Given the description of an element on the screen output the (x, y) to click on. 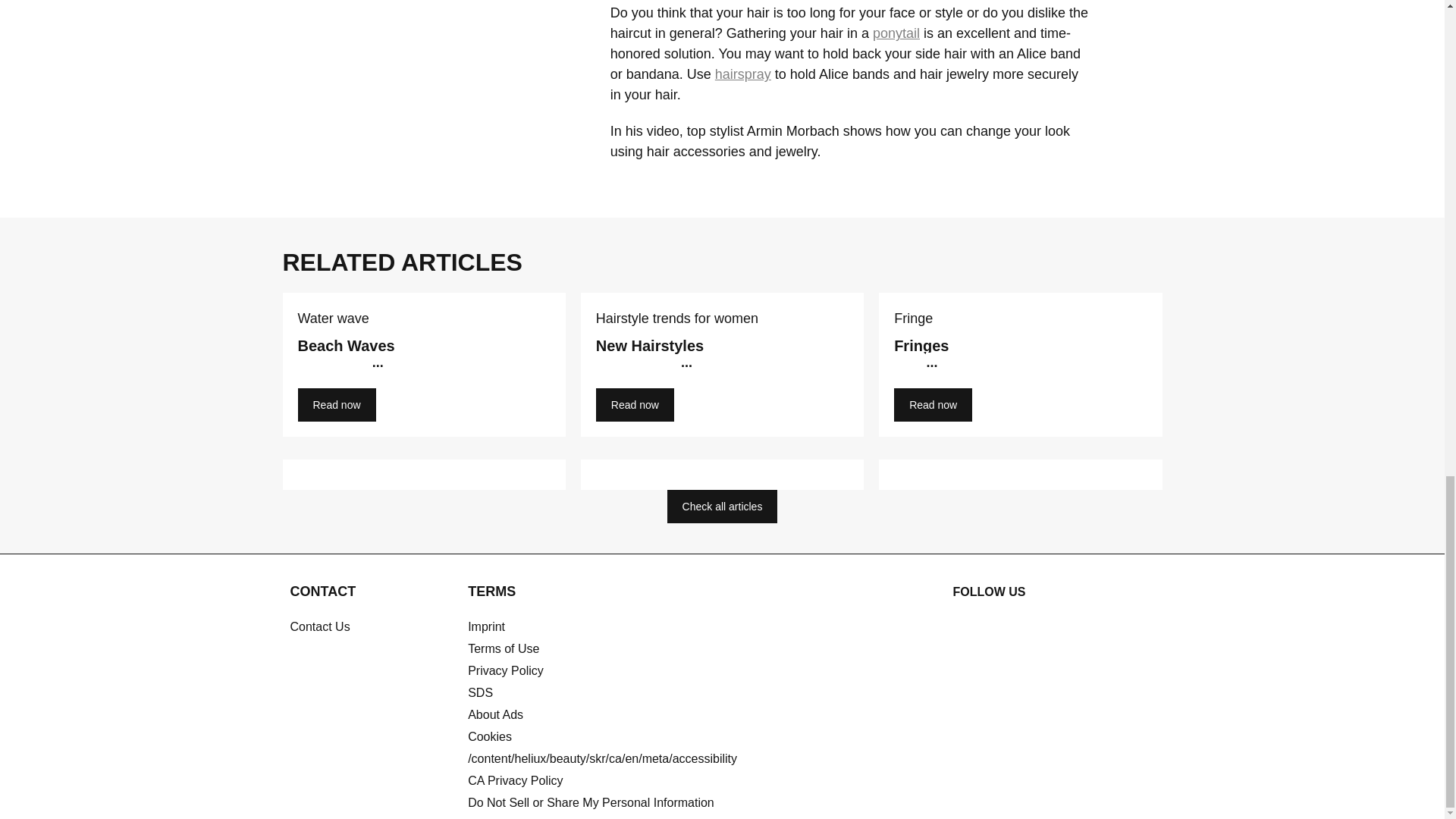
Read now (336, 404)
New Hairstyles (721, 368)
hairspray (742, 73)
Beach Waves (423, 368)
ponytail (896, 32)
Fringes (1020, 368)
